Given the description of an element on the screen output the (x, y) to click on. 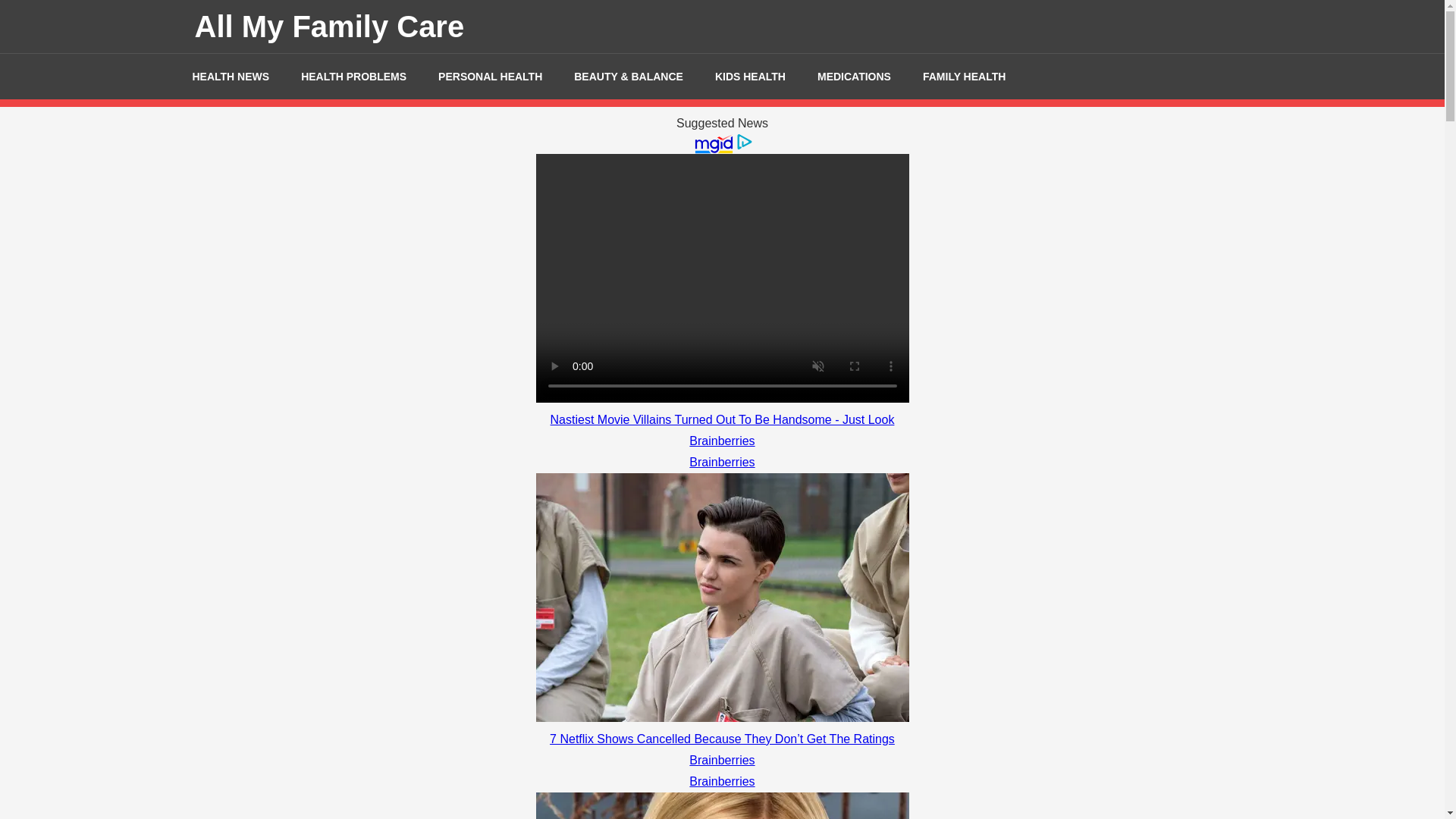
FAMILY HEALTH (964, 76)
MEDICATIONS (854, 76)
HEALTH PROBLEMS (353, 76)
All My Family Care (328, 26)
KIDS HEALTH (750, 76)
PERSONAL HEALTH (489, 76)
HEALTH NEWS (230, 76)
